Given the description of an element on the screen output the (x, y) to click on. 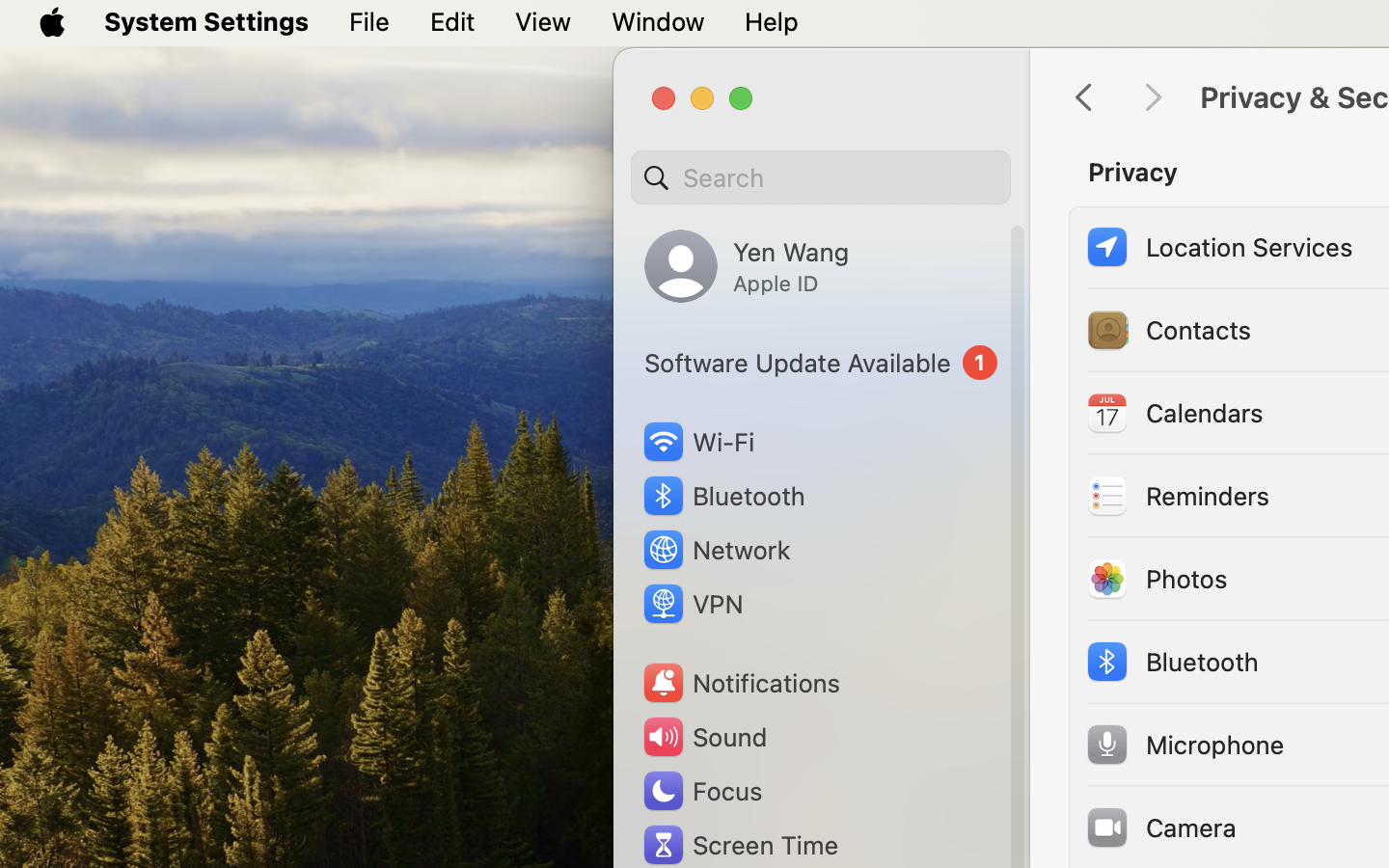
Yen Wang, Apple ID Element type: AXStaticText (746, 265)
Notifications Element type: AXStaticText (740, 682)
Wi‑Fi Element type: AXStaticText (697, 441)
VPN Element type: AXStaticText (691, 603)
Bluetooth Element type: AXStaticText (723, 495)
